Given the description of an element on the screen output the (x, y) to click on. 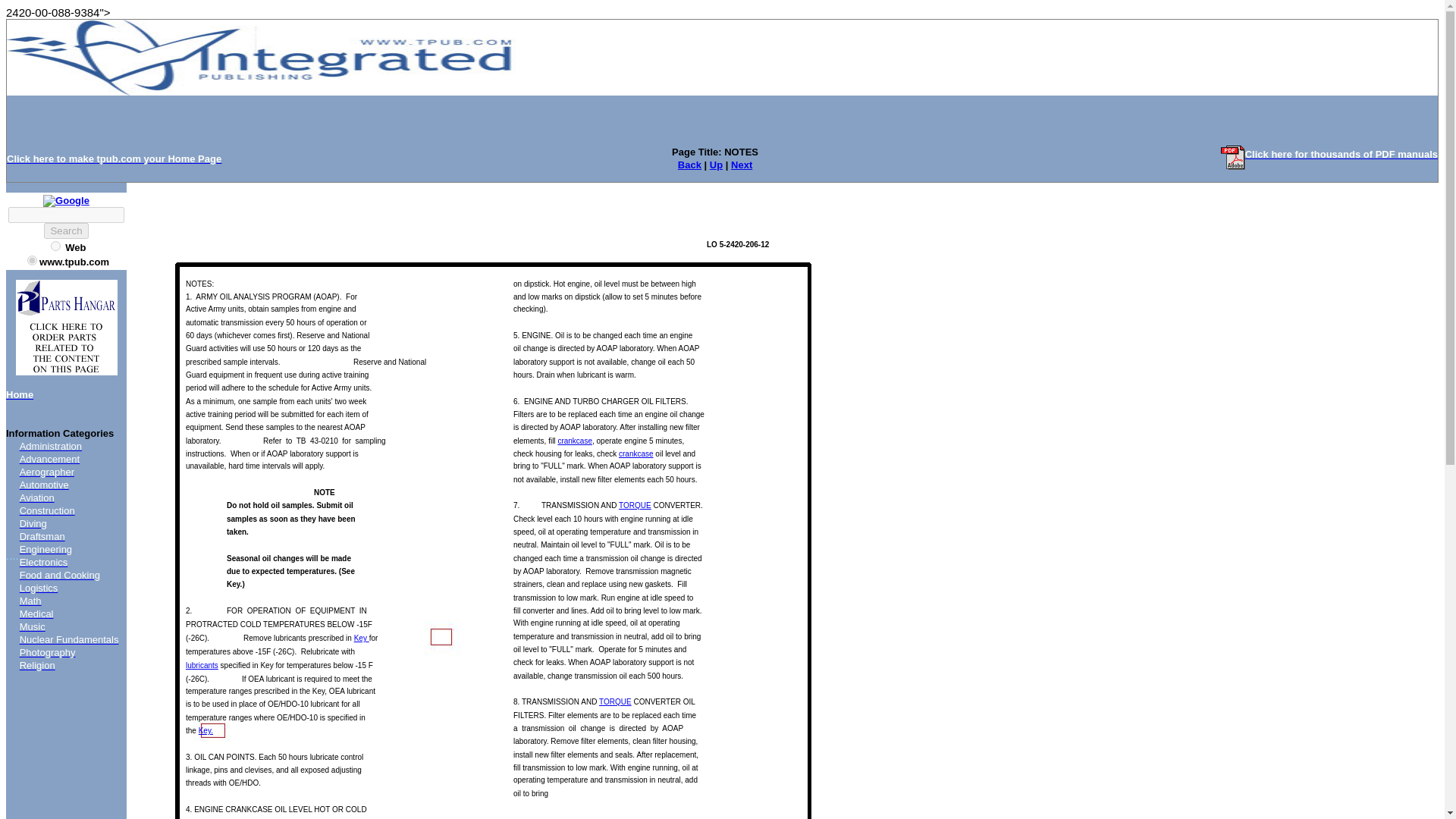
Construction (47, 510)
Food and Cooking (60, 574)
Religion (37, 665)
Key. (205, 730)
Music (32, 626)
TORQUE (634, 505)
Up (716, 164)
lubricants (202, 664)
Engineering (45, 549)
Aerographer (47, 471)
Logistics (39, 587)
Medical (36, 613)
Search (65, 230)
Key (361, 637)
Nuclear Fundamentals (69, 639)
